Given the description of an element on the screen output the (x, y) to click on. 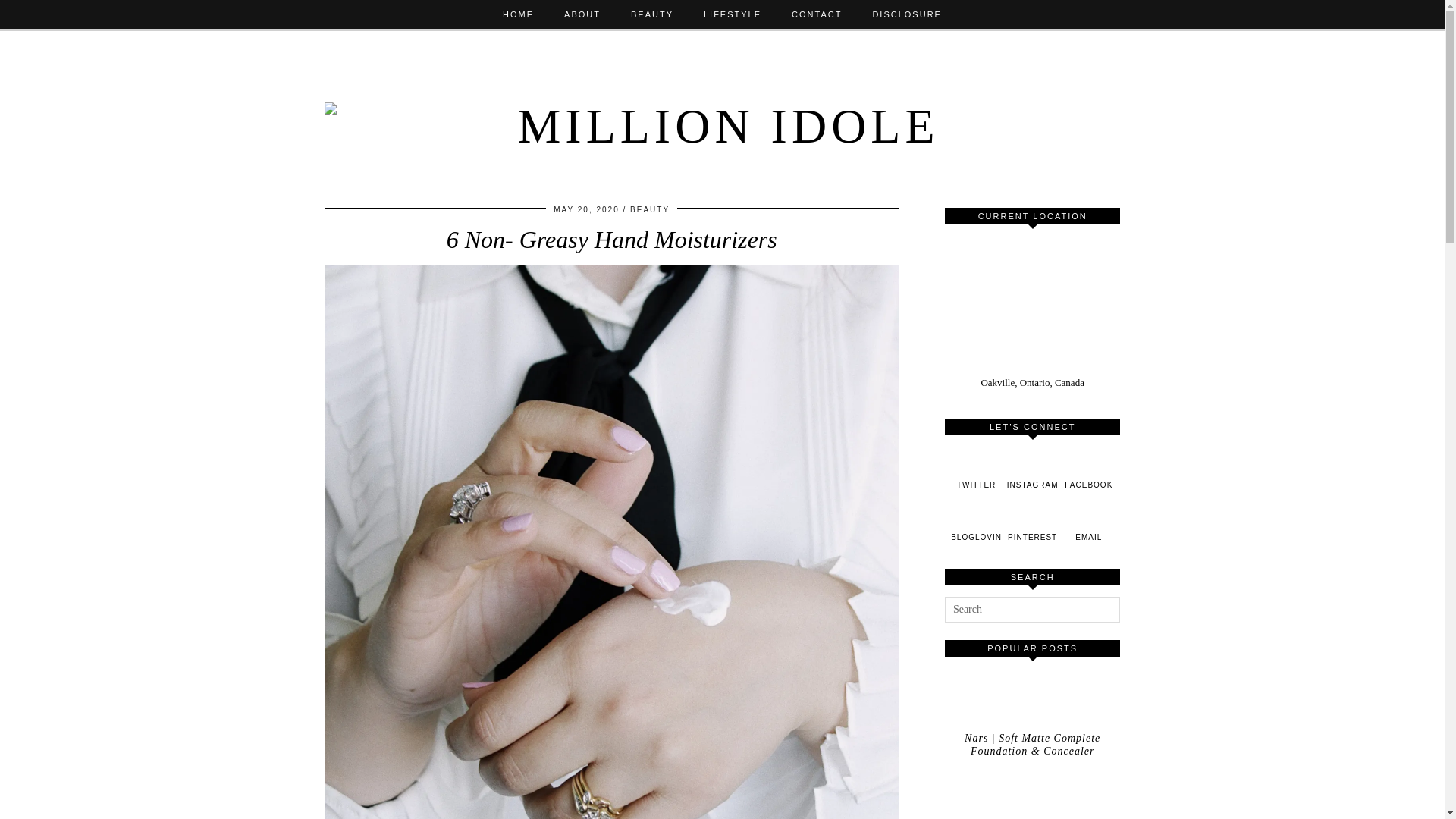
LIFESTYLE (732, 14)
Million Idole (722, 112)
ABOUT (581, 14)
HOME (517, 14)
BEAUTY (649, 209)
BEAUTY (651, 14)
DISCLOSURE (906, 14)
CONTACT (816, 14)
